Given the description of an element on the screen output the (x, y) to click on. 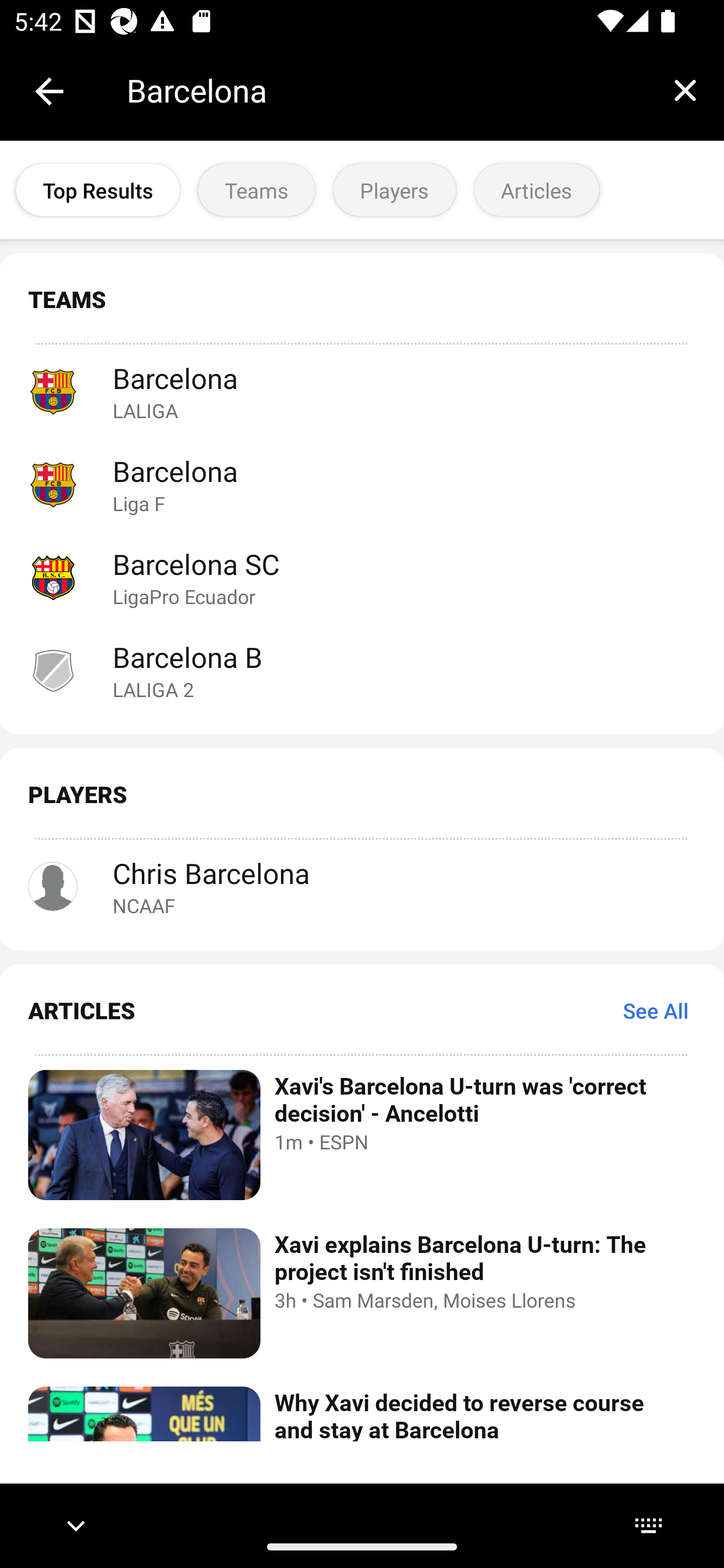
Collapse (49, 91)
Clear query (685, 89)
Barcelona (386, 90)
Top Results (97, 190)
Teams (256, 190)
Players (394, 190)
Articles (536, 190)
Barcelona : LALIGA Barcelona LALIGA (362, 390)
Barcelona : Liga F Barcelona Liga F (362, 483)
Barcelona B : LALIGA 2 Barcelona B LALIGA 2 (362, 670)
Chris Barcelona : NCAAF Chris Barcelona NCAAF (362, 886)
See All (655, 1010)
